Given the description of an element on the screen output the (x, y) to click on. 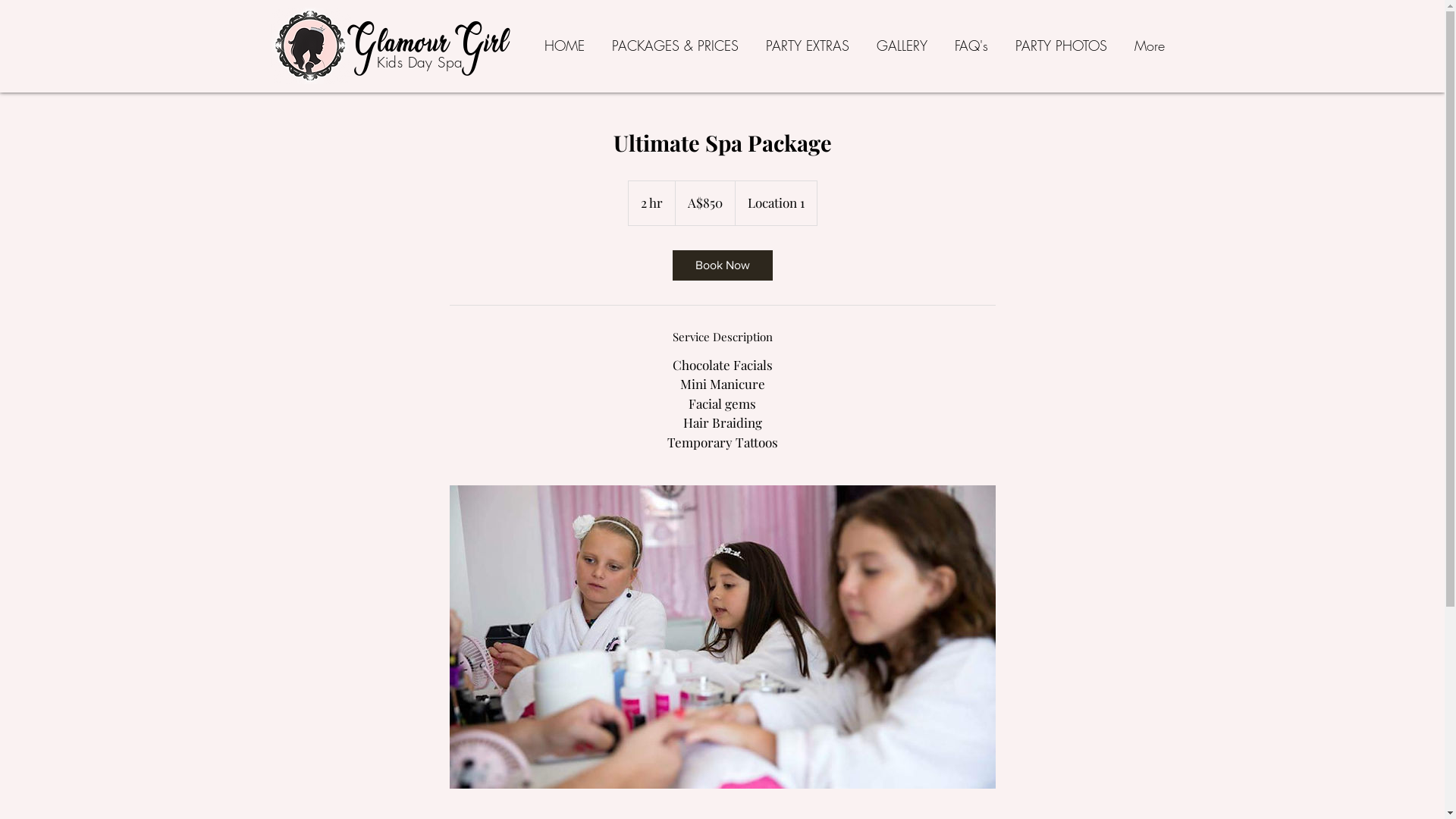
HOME Element type: text (564, 45)
GALLERY Element type: text (901, 45)
Book Now Element type: text (721, 265)
PACKAGES & PRICES Element type: text (674, 45)
Kids Day Spa Element type: text (419, 62)
PARTY PHOTOS Element type: text (1060, 45)
PARTY EXTRAS Element type: text (807, 45)
Glamour Girl Element type: text (428, 45)
FAQ's Element type: text (970, 45)
